Given the description of an element on the screen output the (x, y) to click on. 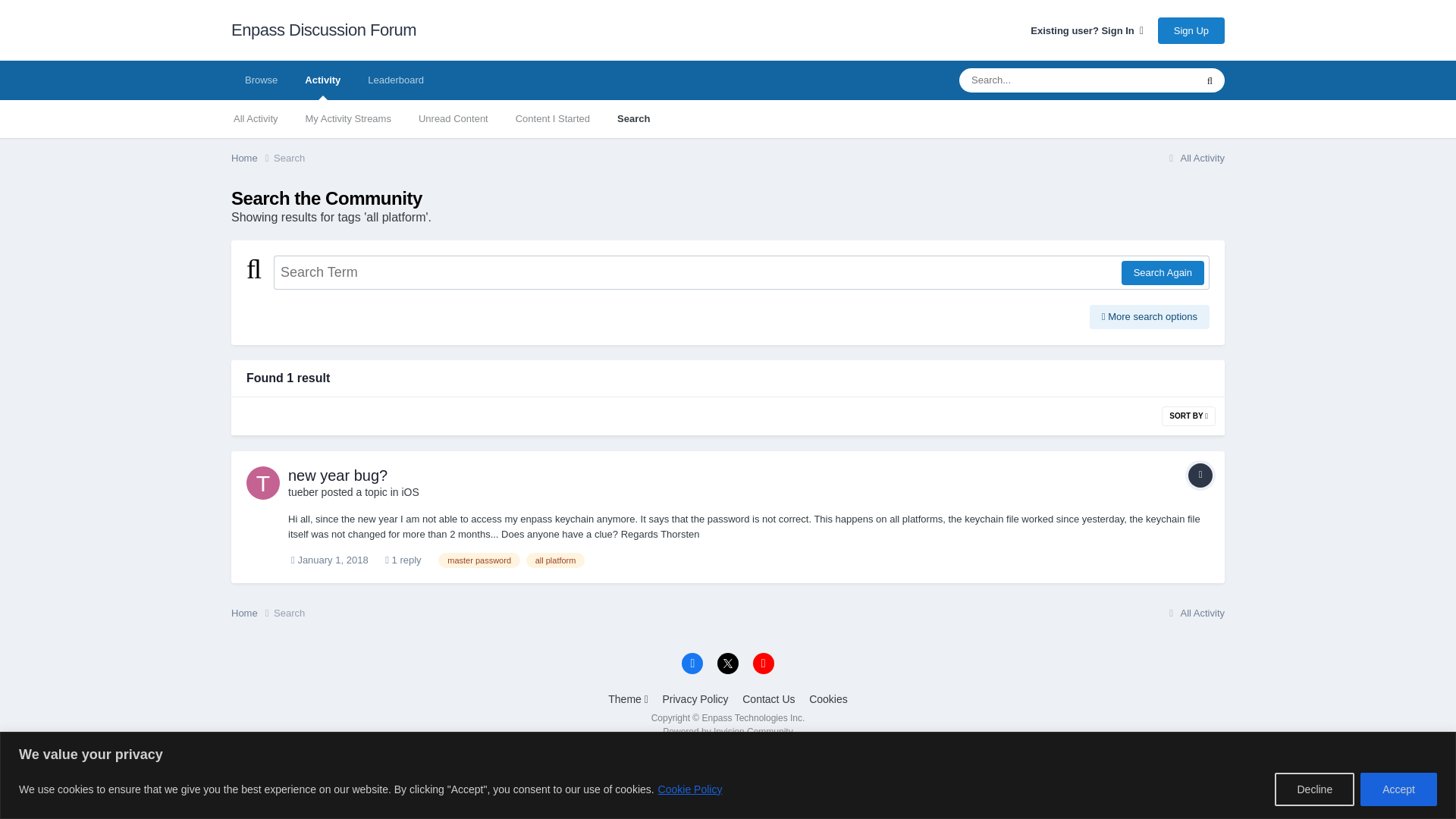
Activity (322, 79)
Unread Content (453, 118)
All Activity (255, 118)
Sign Up (1190, 29)
Home (252, 613)
Enpass Discussion Forum (323, 30)
Invision Community (727, 731)
Leaderboard (395, 79)
Content I Started (553, 118)
Find other content tagged with 'master password' (478, 560)
